Given the description of an element on the screen output the (x, y) to click on. 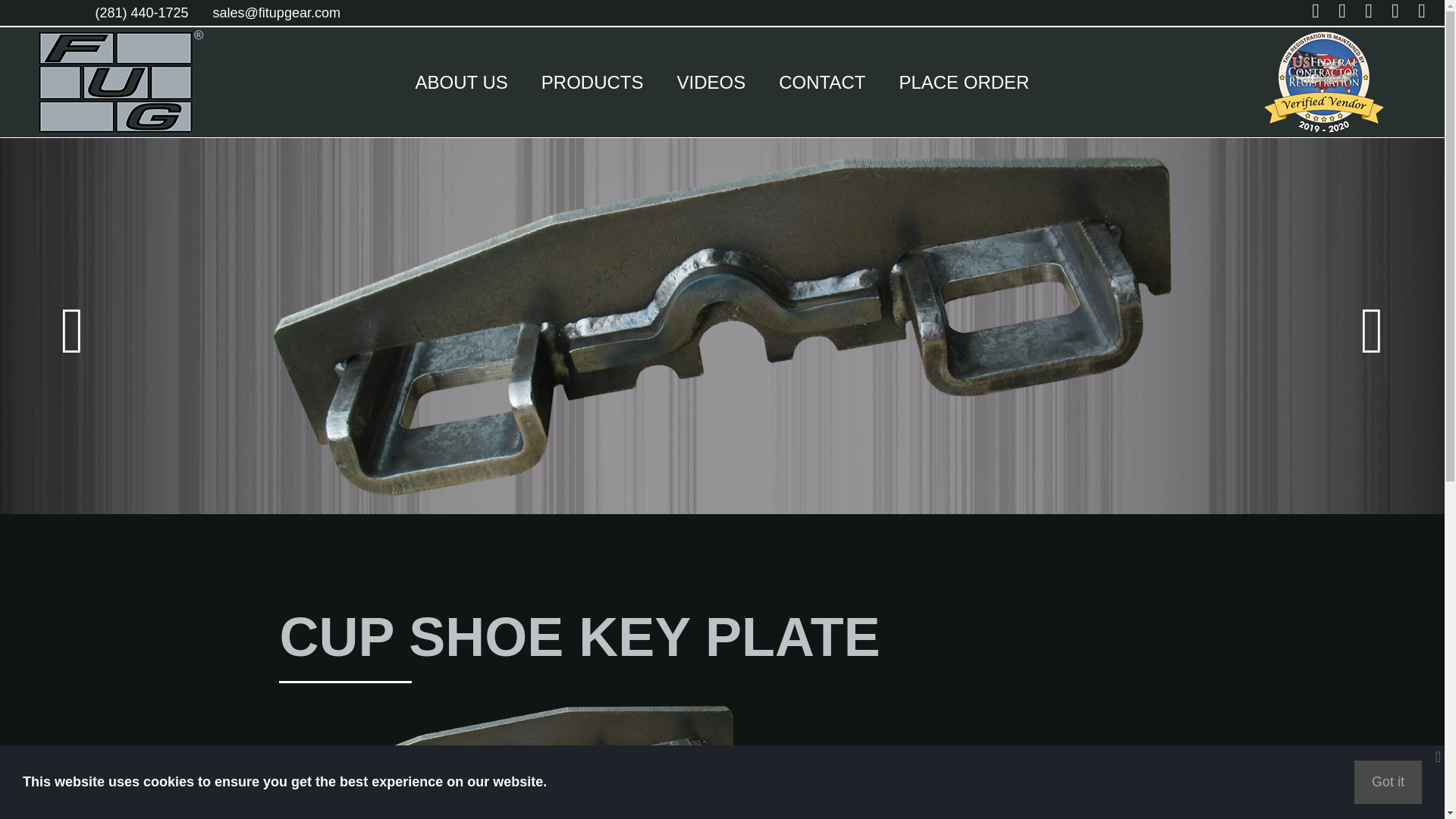
CONTACT (821, 82)
PLACE ORDER (963, 82)
ABOUT US (461, 82)
PRODUCTS (592, 82)
VIDEOS (710, 82)
